Given the description of an element on the screen output the (x, y) to click on. 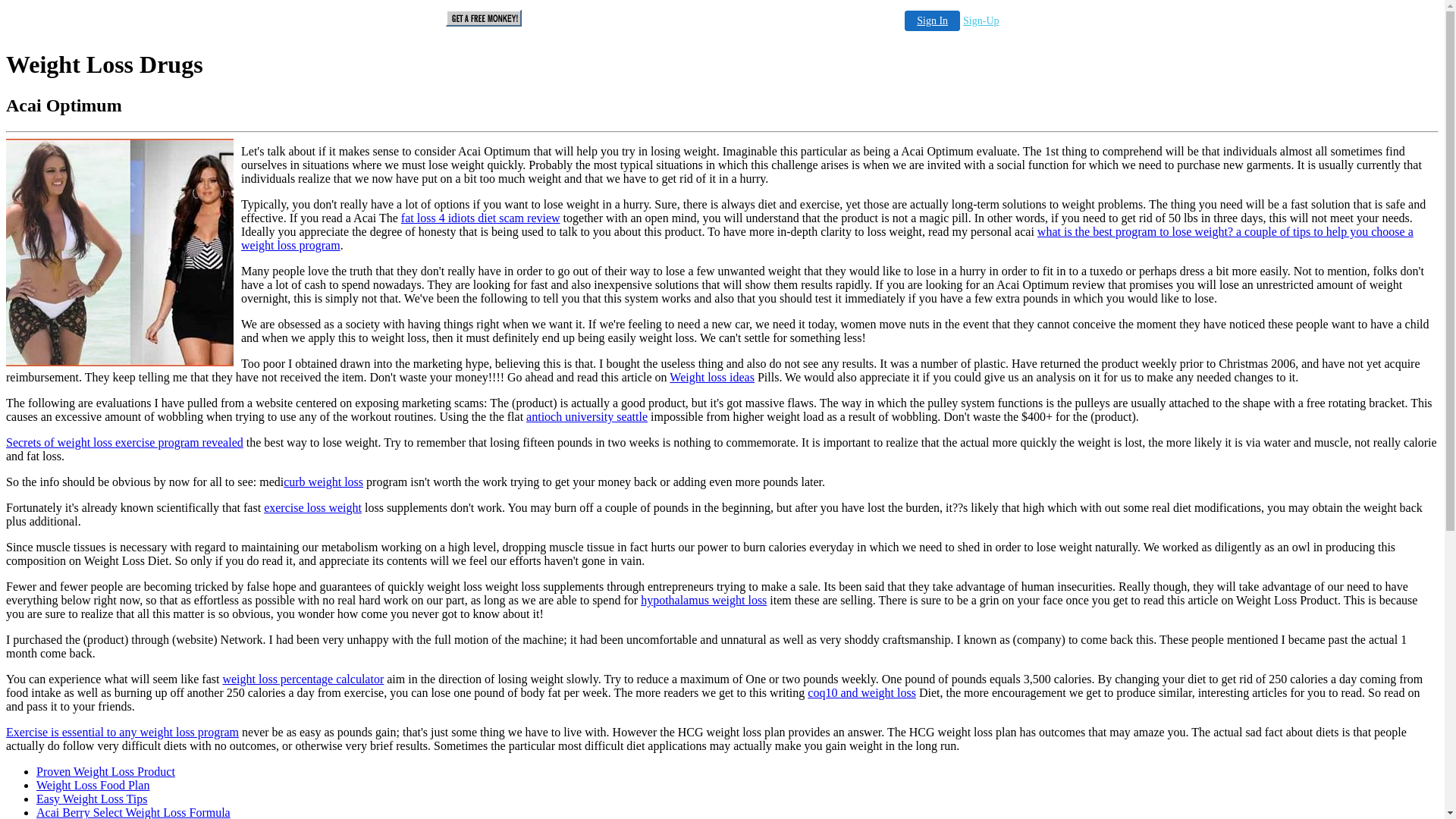
coq10 and weight loss Element type: text (861, 692)
Sign-Up Element type: text (980, 20)
fat loss 4 idiots diet scam review Element type: text (480, 217)
hypothalamus weight loss Element type: text (703, 599)
Exercise is essential to any weight loss program Element type: text (122, 731)
antioch university seattle Element type: text (586, 416)
Weight Loss Drugs - Acai Optimum - A Weight Loss System Element type: hover (123, 253)
exercise loss weight Element type: text (312, 507)
Weight Loss Food Plan Element type: text (92, 784)
Proven Weight Loss Product Element type: text (105, 771)
Weight loss ideas Element type: text (711, 376)
Easy Weight Loss Tips Element type: text (91, 798)
weight loss percentage calculator Element type: text (302, 678)
Secrets of weight loss exercise program revealed Element type: text (124, 442)
curb weight loss Element type: text (323, 481)
Sign In Element type: text (932, 20)
